Given the description of an element on the screen output the (x, y) to click on. 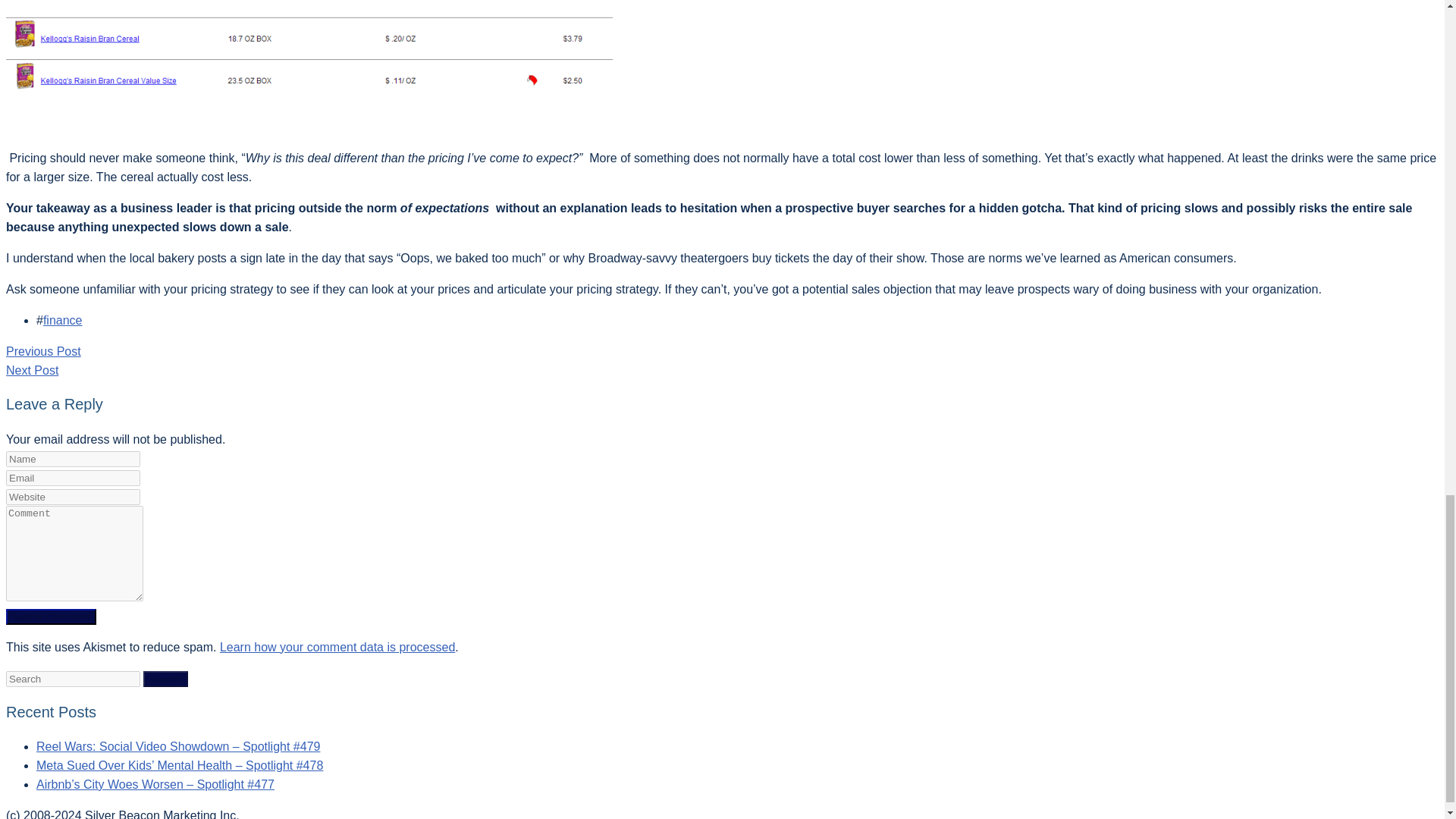
Next Post (31, 369)
Learn how your comment data is processed (336, 646)
Search (164, 678)
Previous Post (43, 350)
Submit Comment (50, 616)
Submit Comment (50, 616)
finance (62, 319)
